Given the description of an element on the screen output the (x, y) to click on. 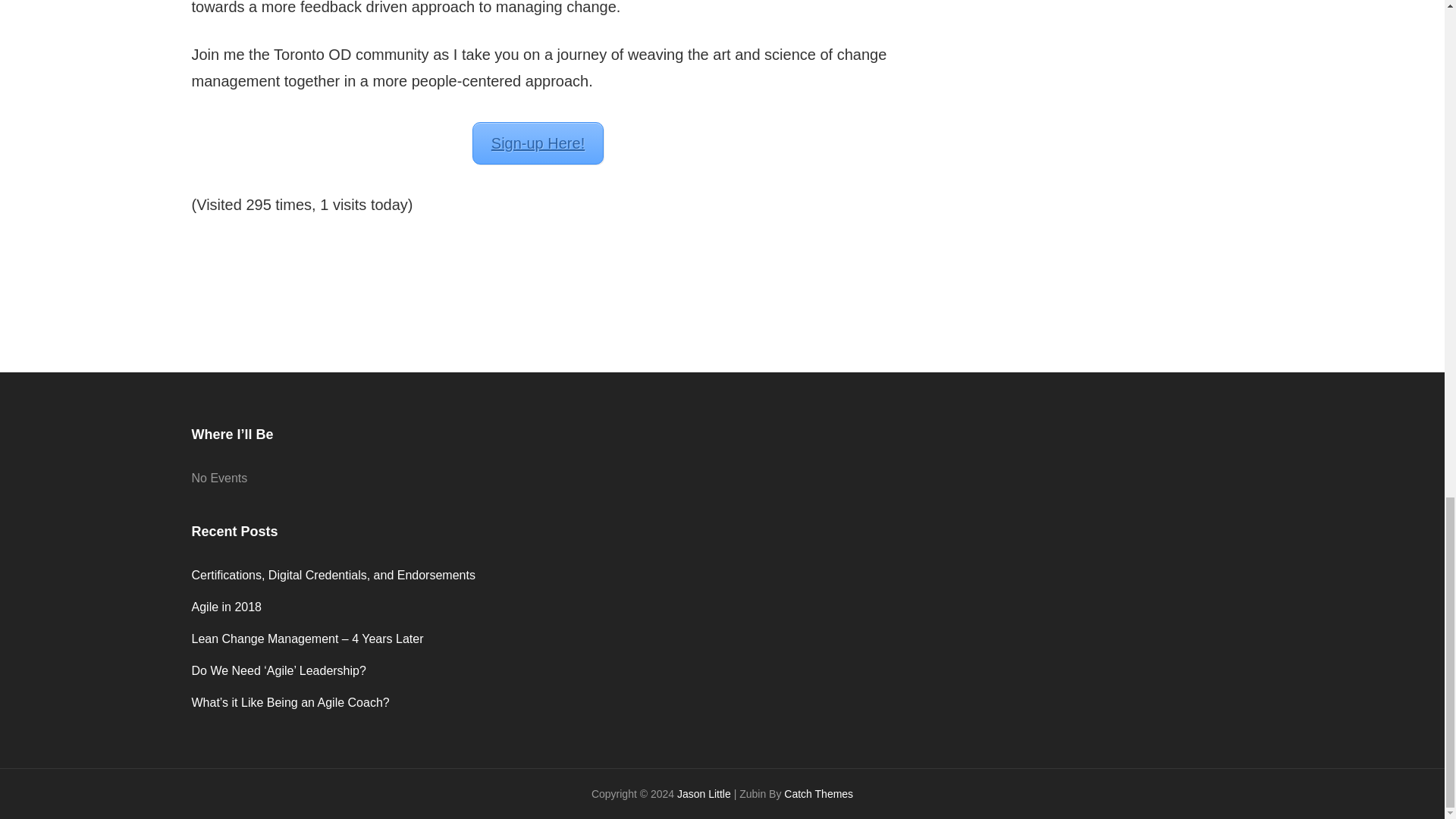
Jason Little (703, 793)
Sign-up Here! (537, 143)
Catch Themes (818, 793)
Agile in 2018 (226, 606)
Certifications, Digital Credentials, and Endorsements (332, 574)
